Given the description of an element on the screen output the (x, y) to click on. 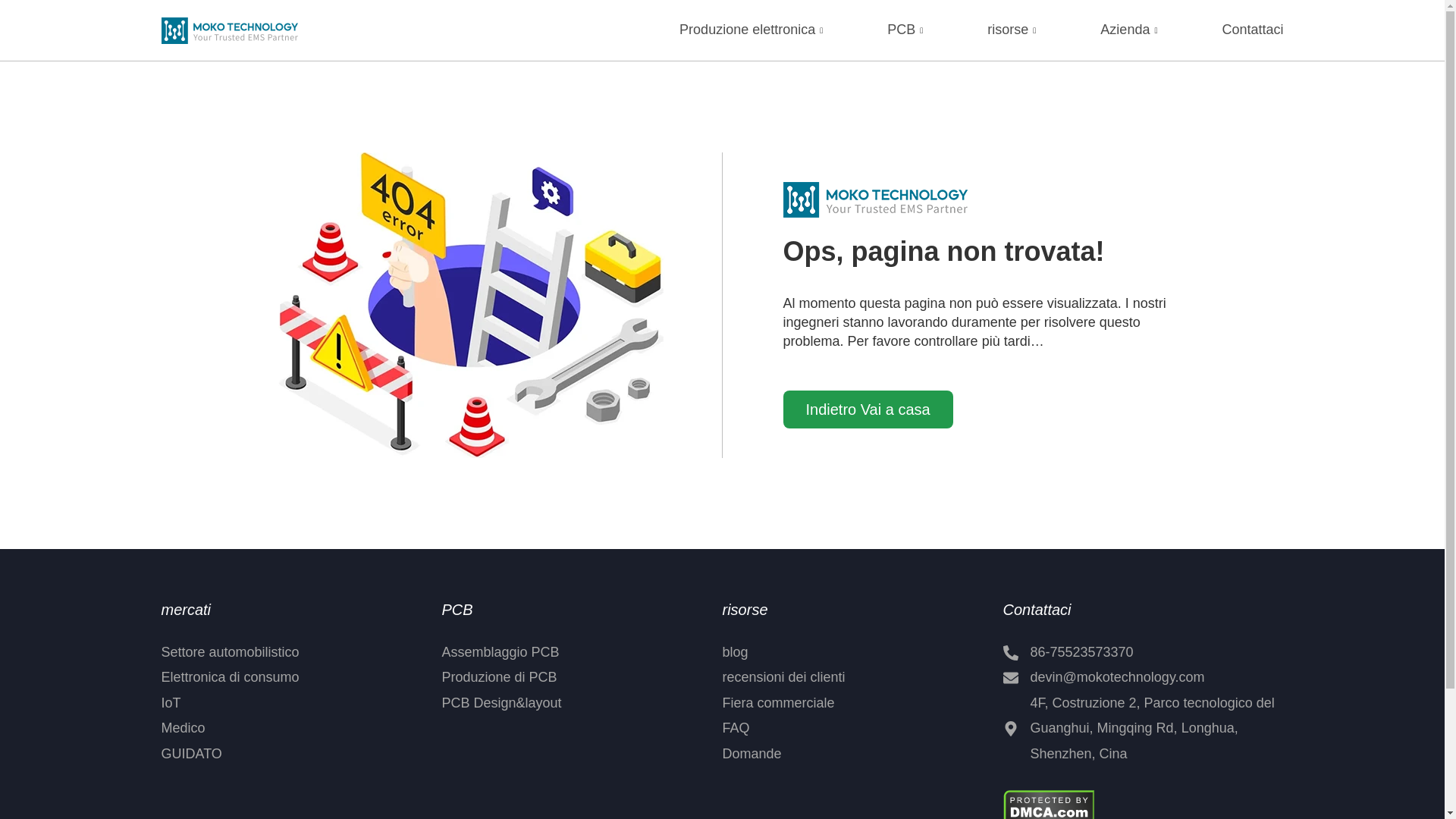
Contattaci (1251, 30)
Azienda (1130, 30)
Produzione elettronica (753, 30)
Stato di protezione DMCA.com (1048, 804)
